Given the description of an element on the screen output the (x, y) to click on. 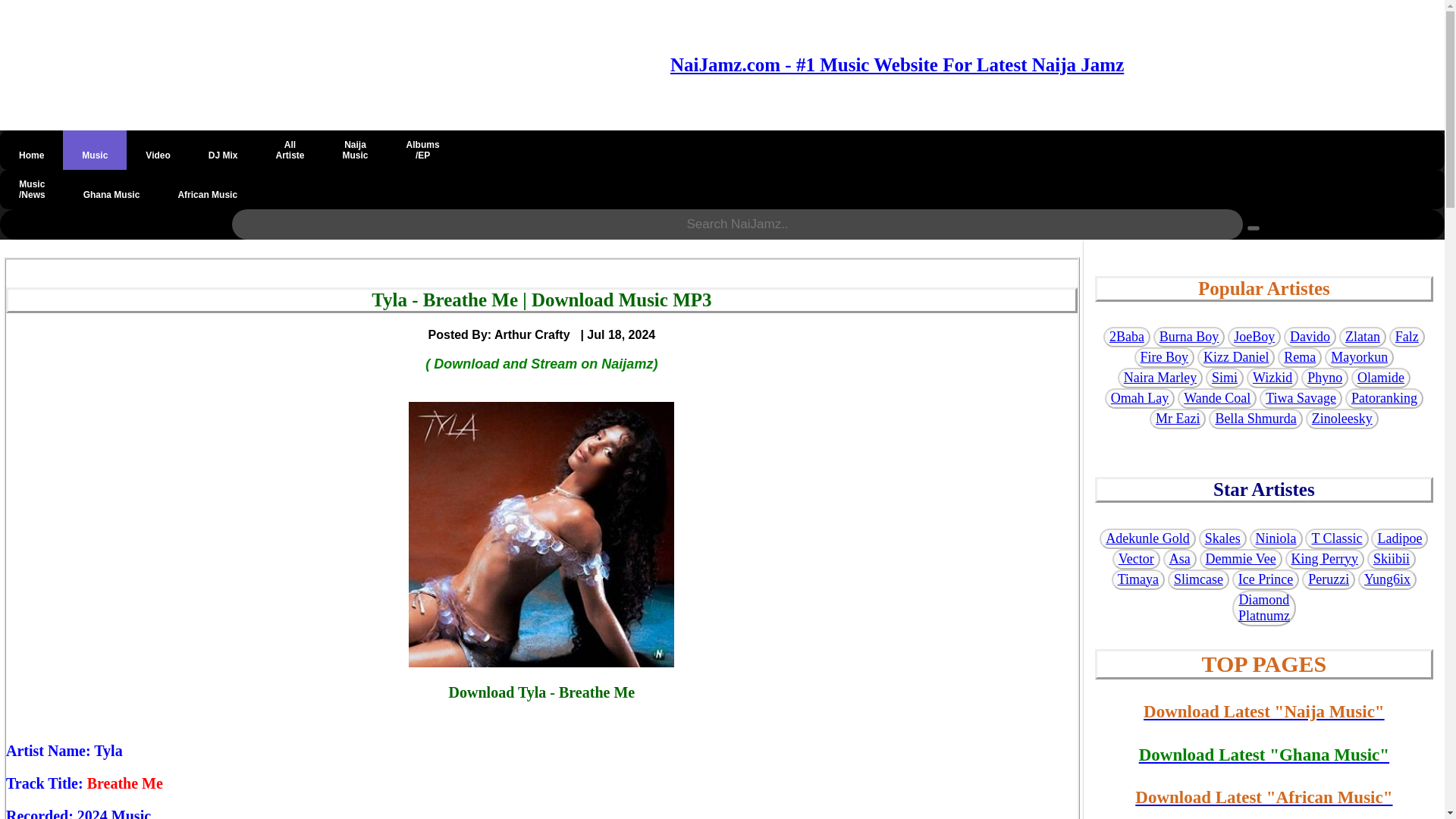
Home (31, 149)
Posted By: Arthur Crafty   (290, 149)
DJ Mix (504, 334)
Ghana Music (223, 149)
Tyla (111, 189)
Music (108, 750)
African Music (355, 149)
2024 Music (94, 149)
Search source code (207, 189)
Video (114, 813)
